Given the description of an element on the screen output the (x, y) to click on. 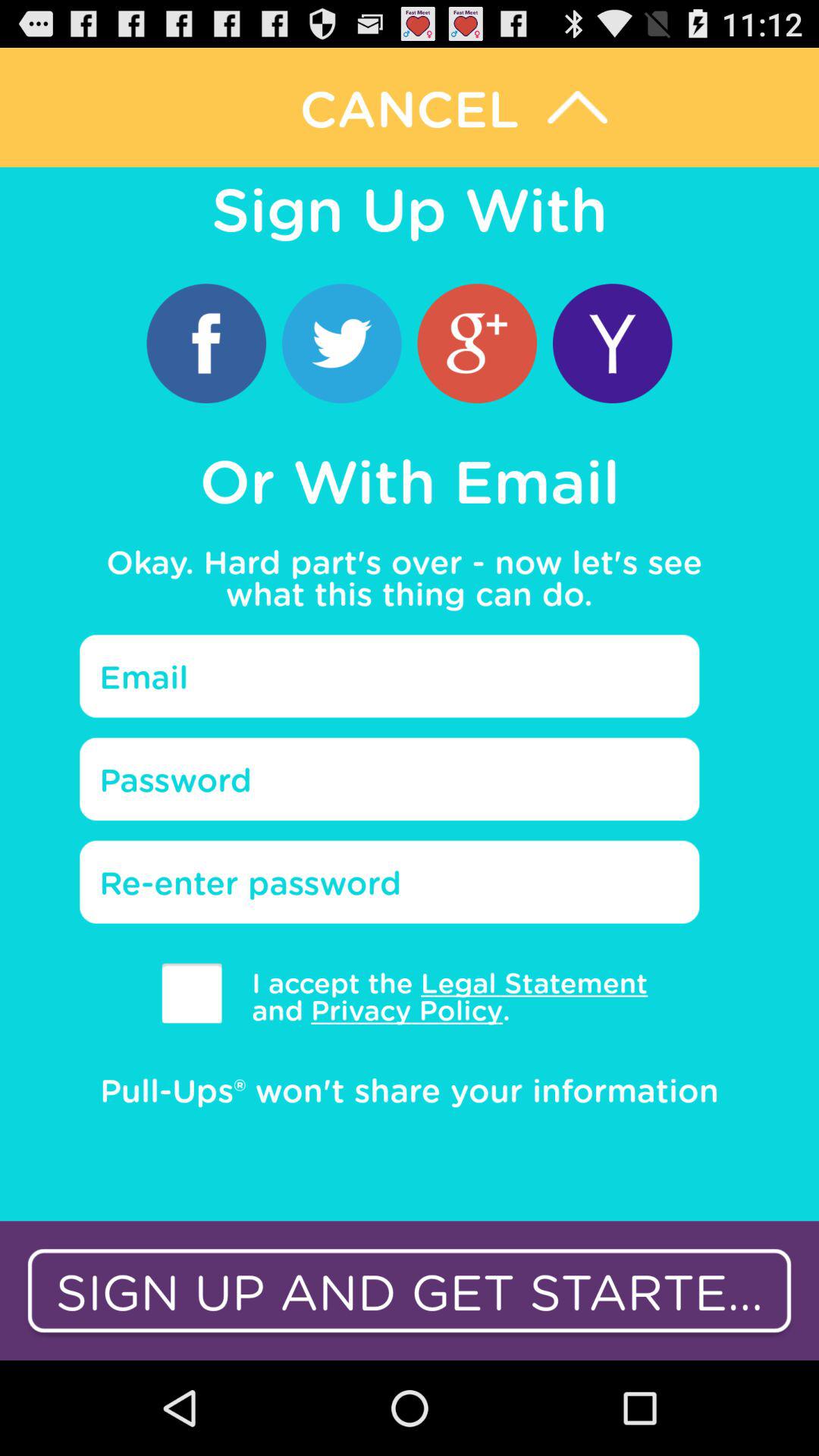
use facebook log in (206, 343)
